Given the description of an element on the screen output the (x, y) to click on. 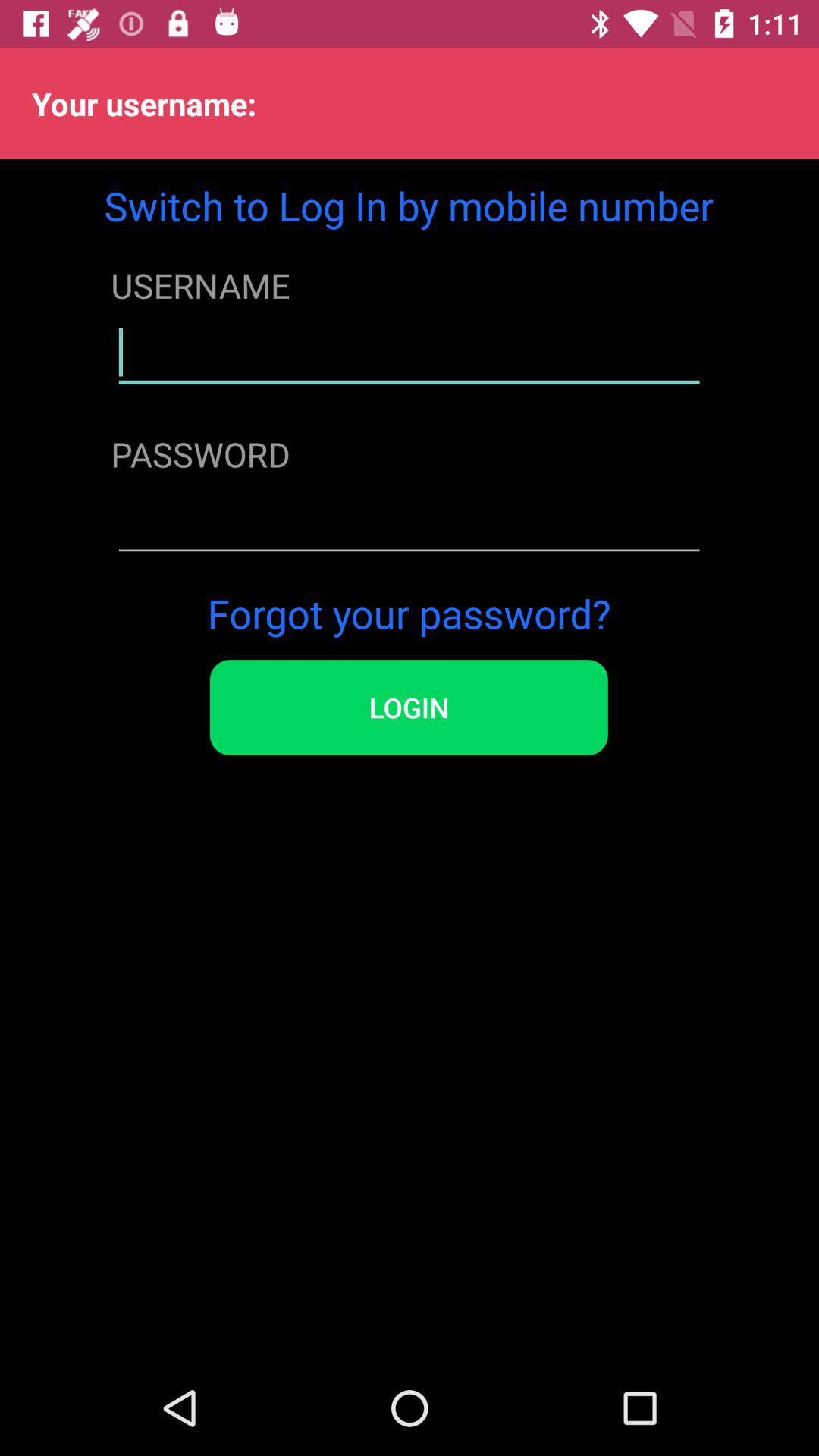
click the icon above the password item (408, 353)
